Given the description of an element on the screen output the (x, y) to click on. 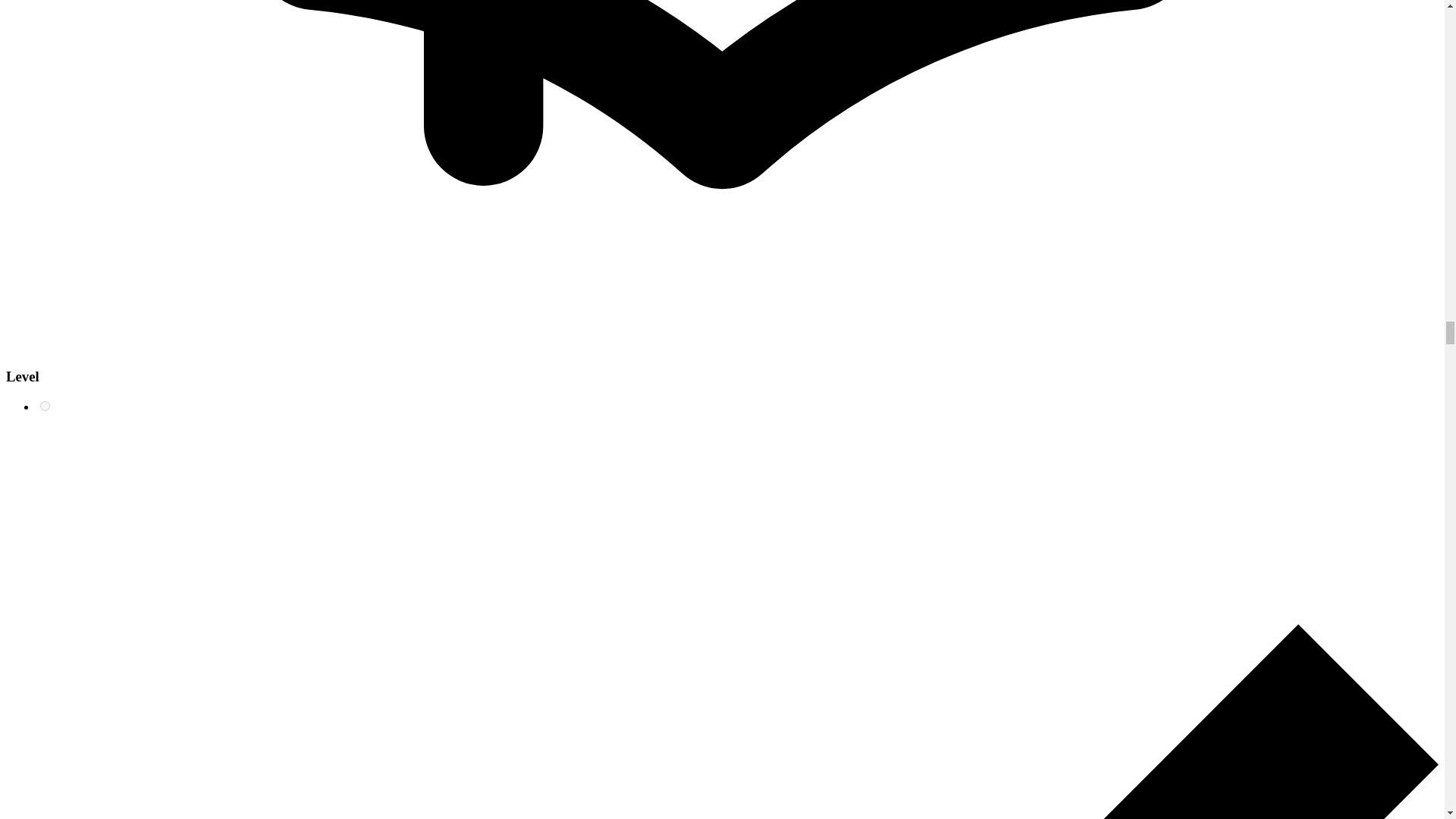
1 (44, 406)
